Given the description of an element on the screen output the (x, y) to click on. 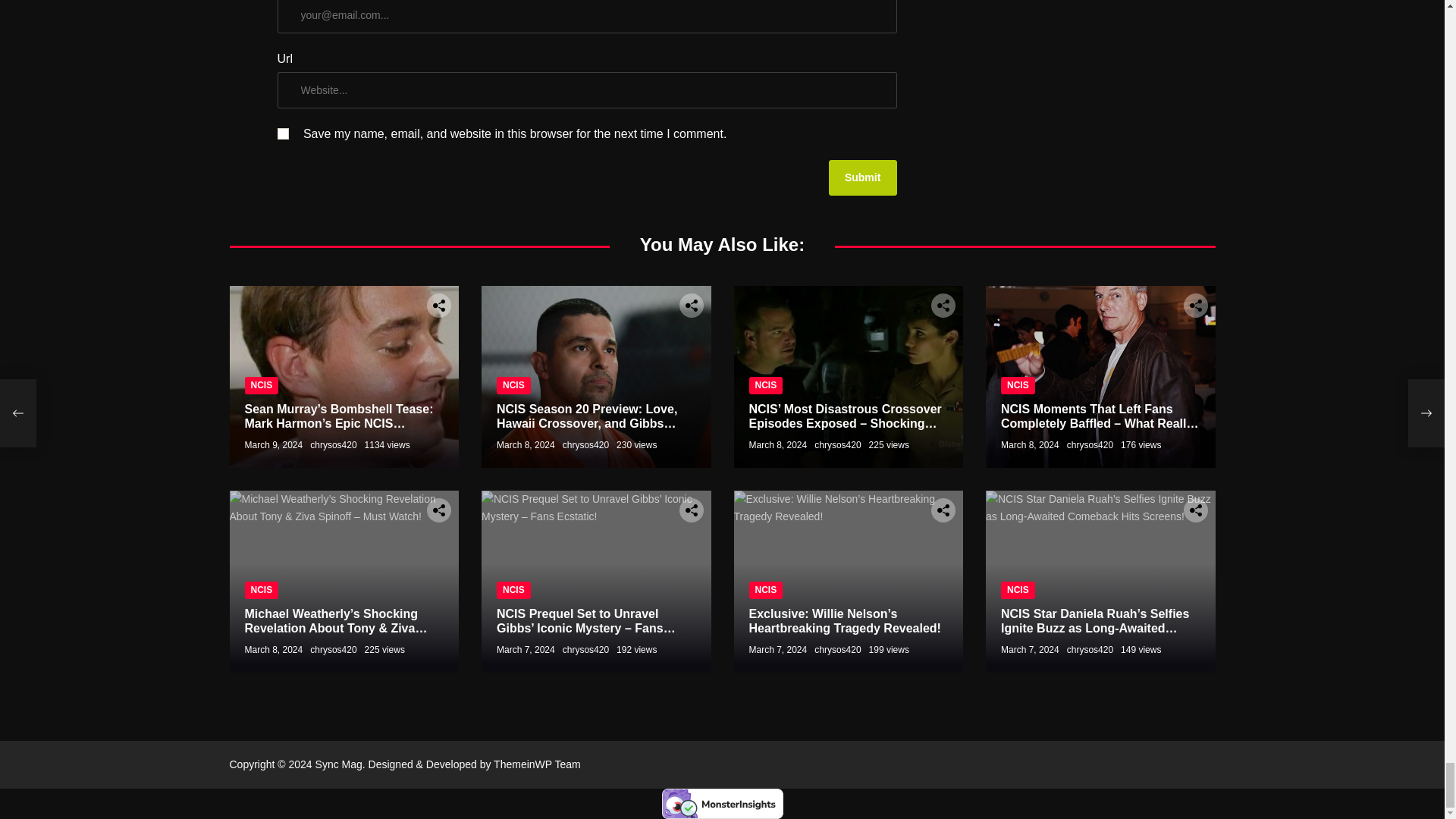
yes (283, 133)
Submit (862, 177)
